Given the description of an element on the screen output the (x, y) to click on. 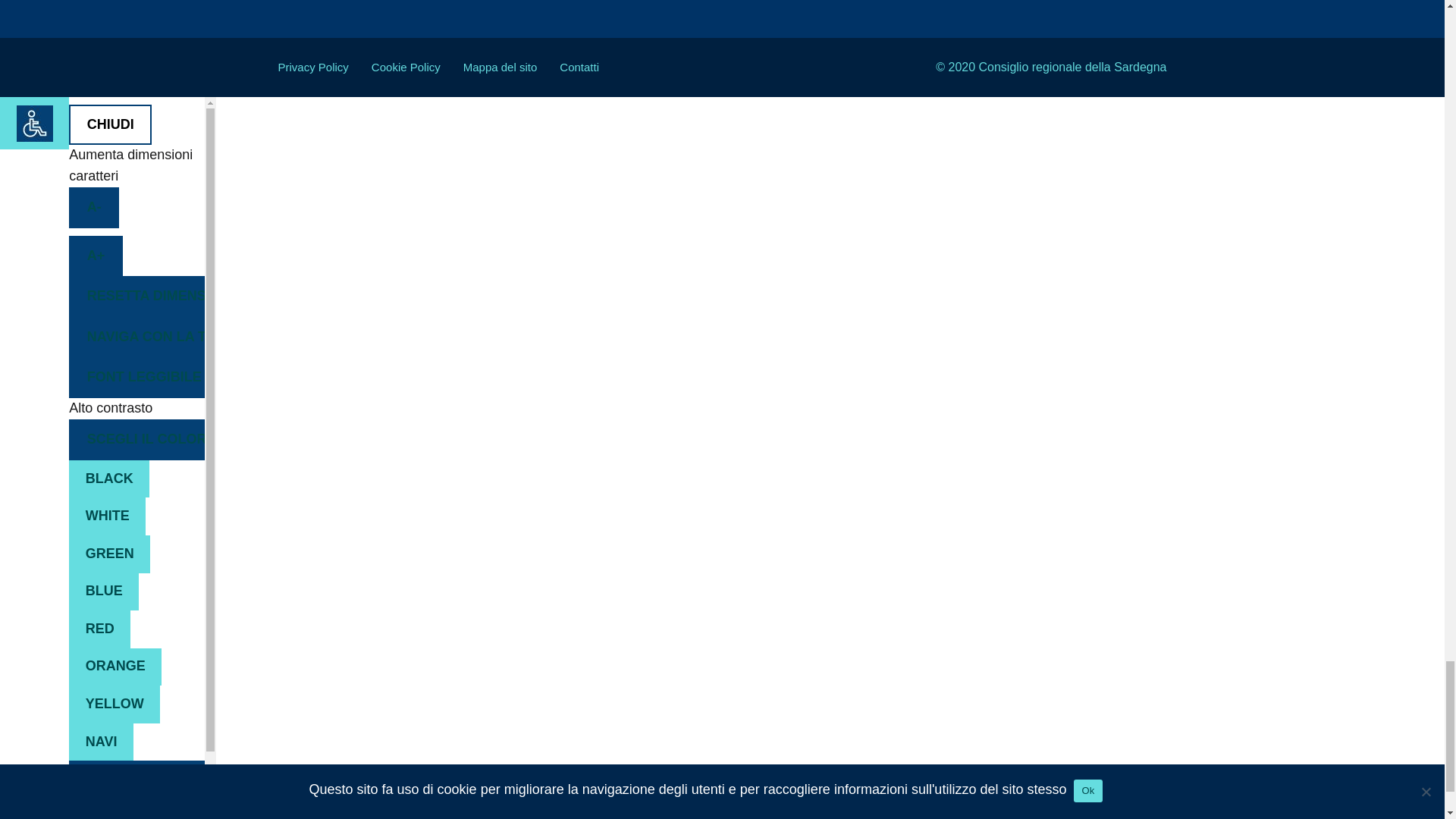
Privacy Policy (312, 66)
larger font size (95, 255)
Mappa del sito (500, 66)
blue (103, 591)
red (99, 629)
black (108, 478)
Contatti (578, 66)
RESETTA DIMENSIONI CARATTERI (136, 296)
Chiudi (109, 124)
smaller font size (93, 207)
yellow (114, 704)
A- (93, 207)
Naviga con la tastiera (136, 336)
Contrast (136, 439)
Reset font size (136, 296)
